Given the description of an element on the screen output the (x, y) to click on. 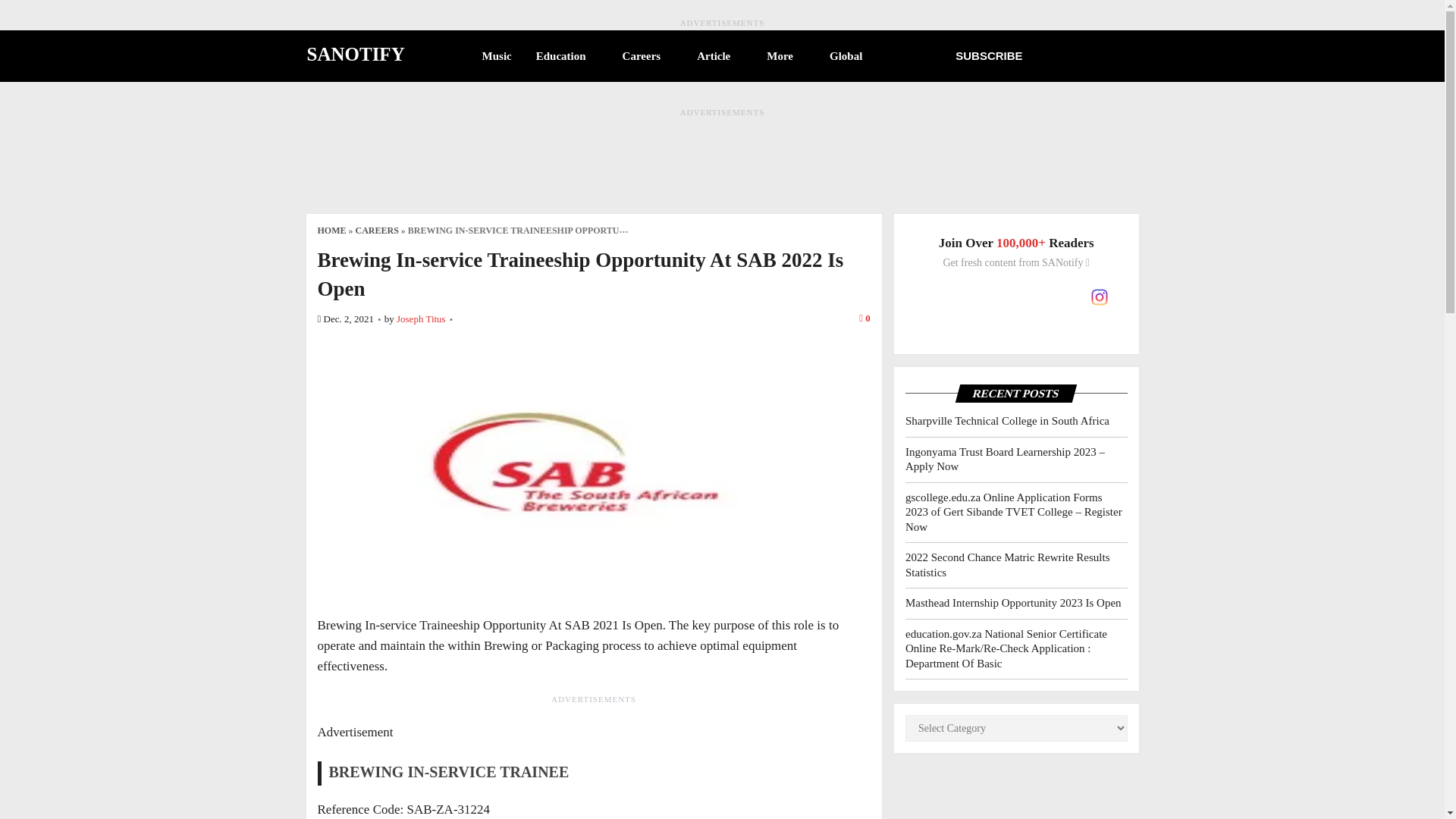
Posts by Joseph Titus (420, 318)
SANOTIFY (354, 53)
Follow Sanotify on Instagram (1098, 296)
Careers (647, 55)
Subscribe to Sanotify on YouTube (1043, 296)
Global (851, 55)
Music (497, 55)
HOME (331, 230)
More (785, 55)
SUBSCRIBE (988, 55)
